Given the description of an element on the screen output the (x, y) to click on. 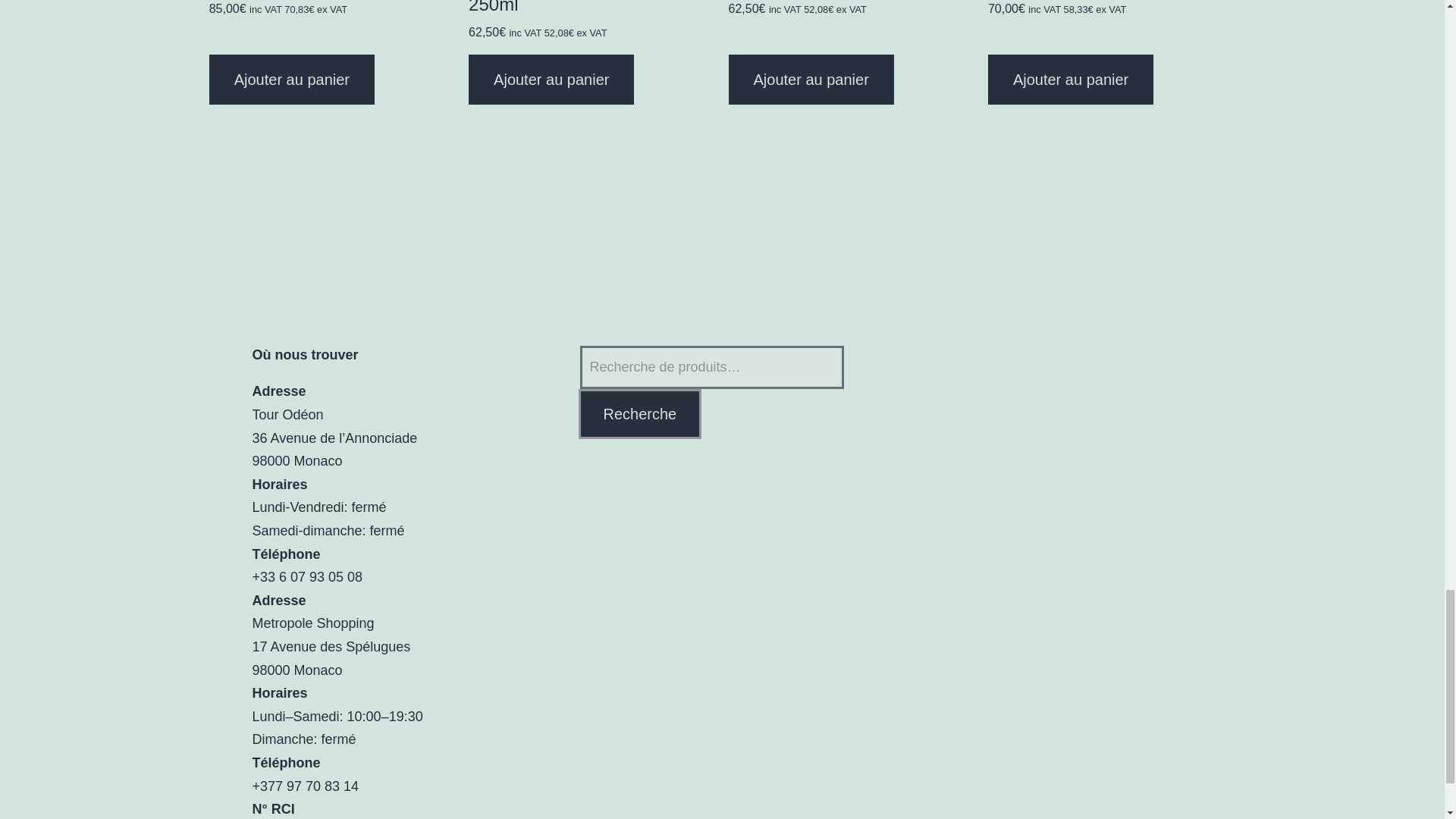
Ajouter au panier (1070, 79)
Recherche (639, 413)
Ajouter au panier (550, 79)
Ajouter au panier (810, 79)
Ajouter au panier (291, 79)
